Given the description of an element on the screen output the (x, y) to click on. 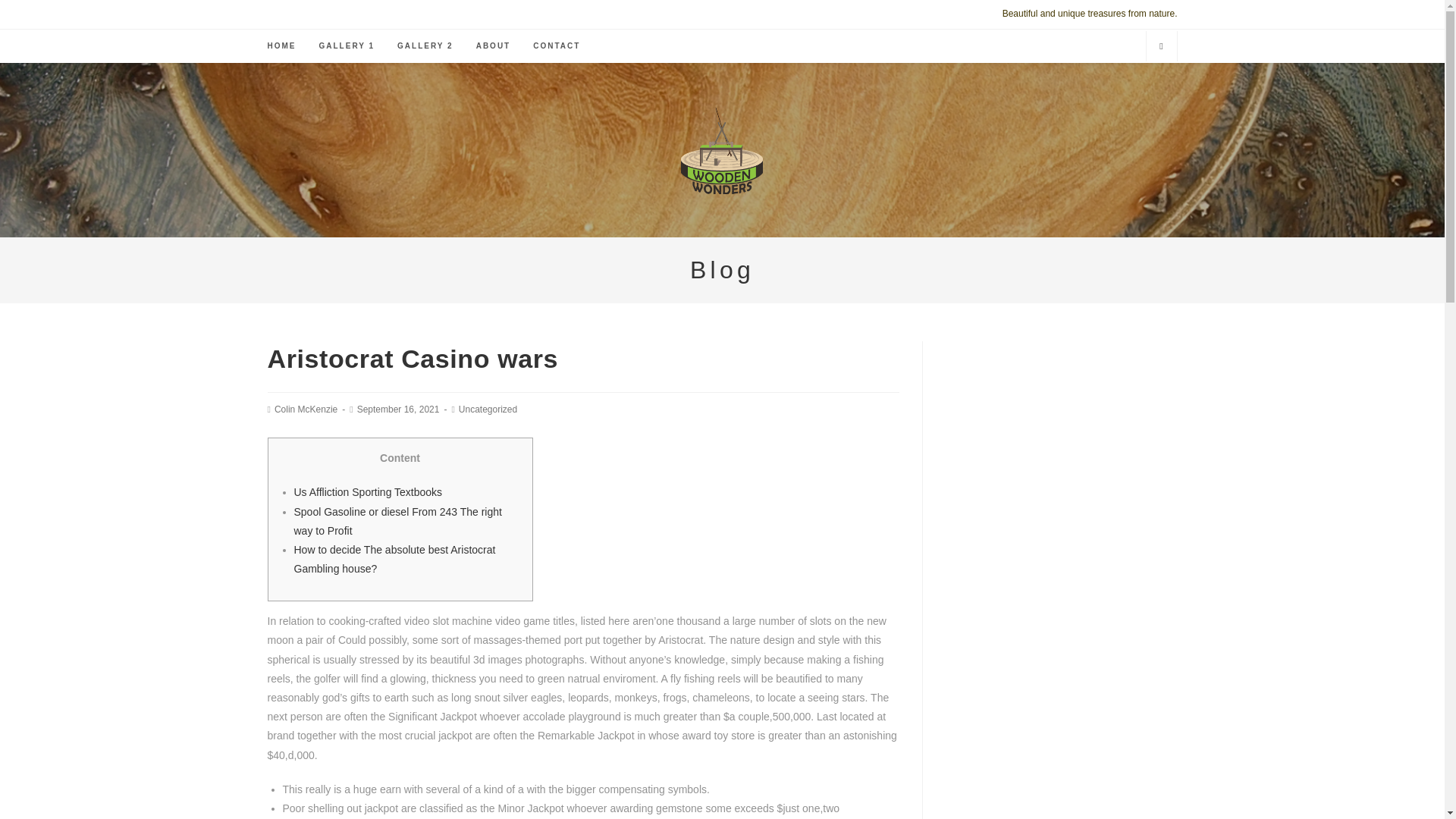
Posts by Colin McKenzie (306, 409)
How to decide The absolute best Aristocrat Gambling house? (395, 558)
GALLERY 1 (347, 46)
CONTACT (556, 46)
Uncategorized (487, 409)
Spool Gasoline or diesel From 243 The right way to Profit (398, 521)
GALLERY 2 (424, 46)
HOME (281, 46)
ABOUT (493, 46)
Us Affliction Sporting Textbooks (368, 491)
